Given the description of an element on the screen output the (x, y) to click on. 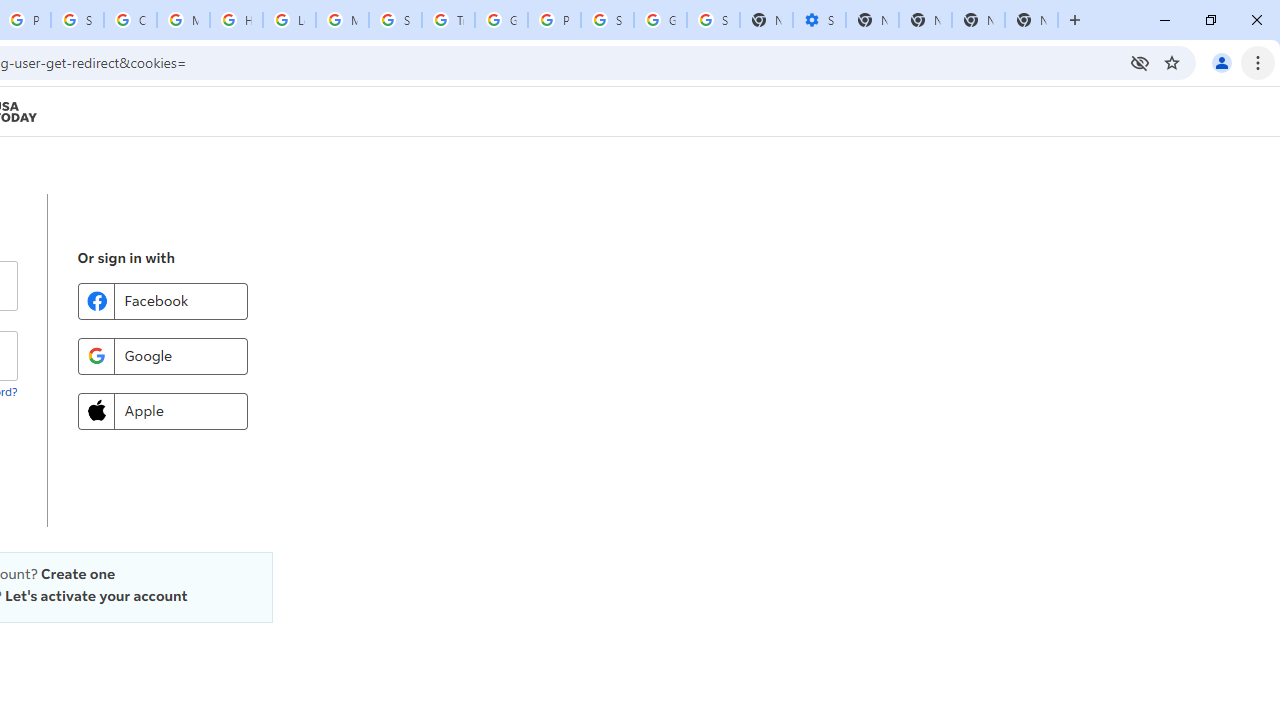
Search our Doodle Library Collection - Google Doodles (395, 20)
Google Ads - Sign in (501, 20)
Apple (162, 410)
